Given the description of an element on the screen output the (x, y) to click on. 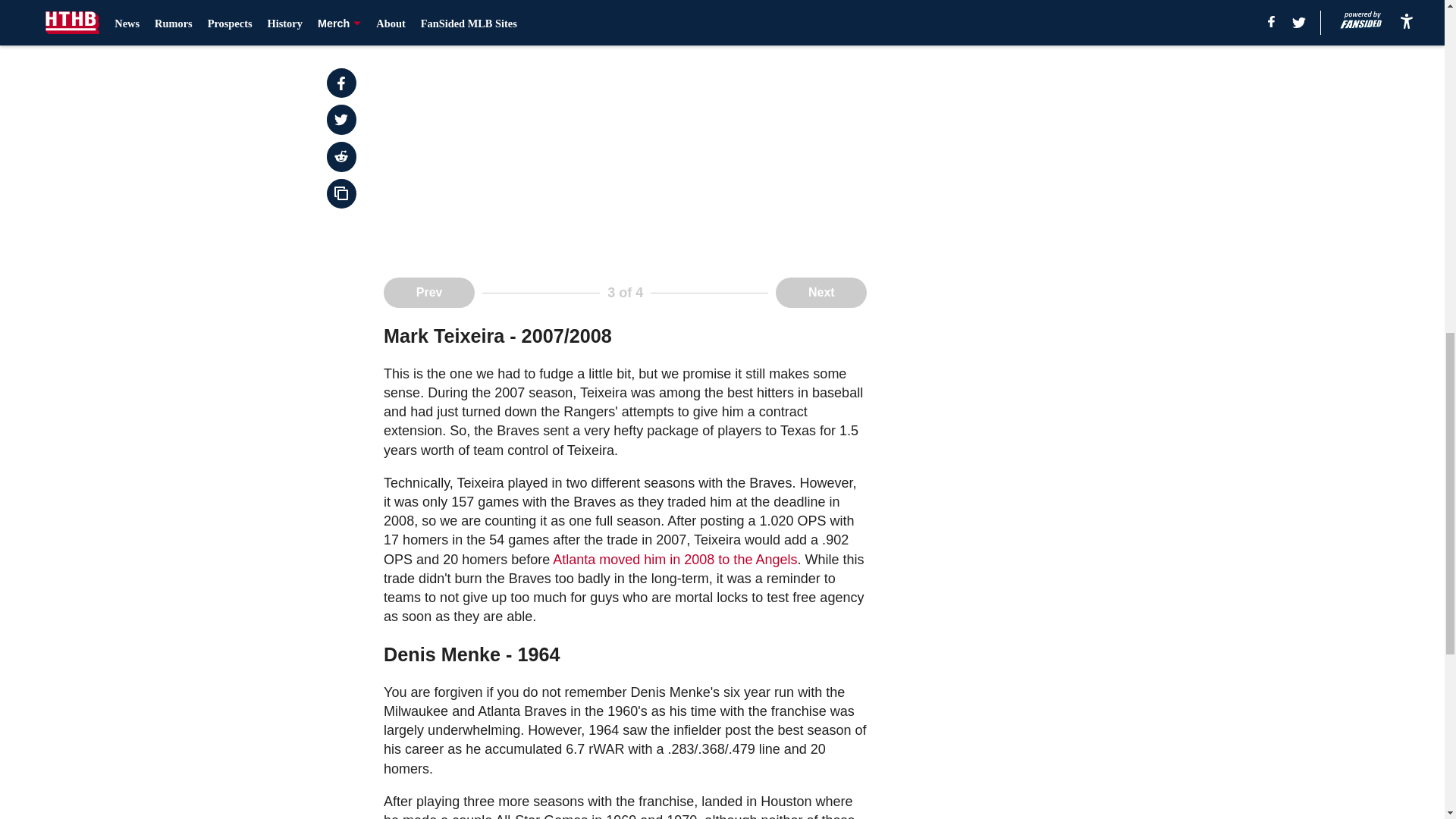
Next (821, 292)
Atlanta moved him in 2008 to the Angels (674, 559)
Prev (429, 292)
